Given the description of an element on the screen output the (x, y) to click on. 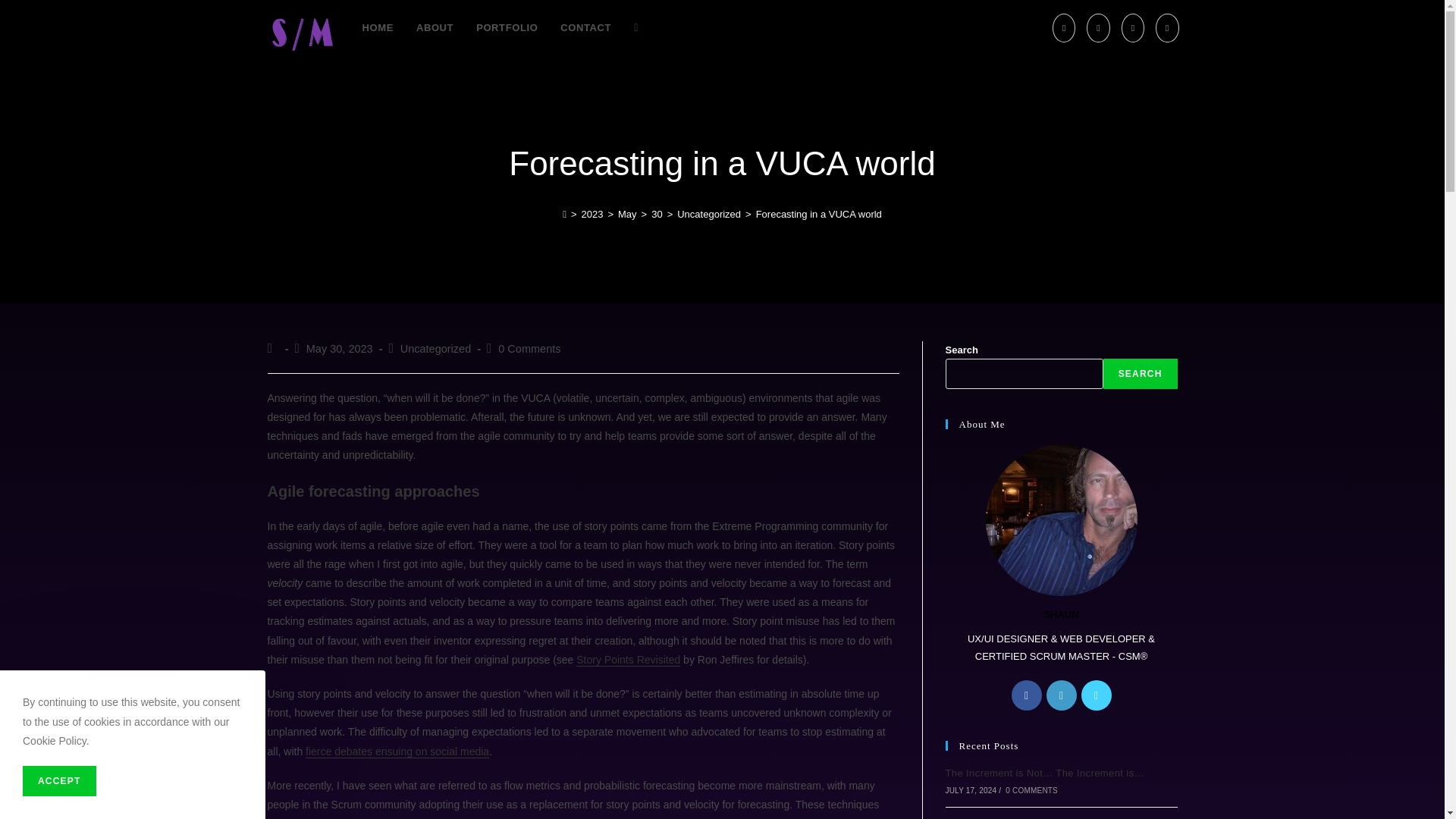
PORTFOLIO (506, 28)
ABOUT (434, 28)
Uncategorized (435, 348)
0 Comments (528, 348)
fierce debates ensuing on social media (397, 751)
Story Points Revisited (627, 659)
2023 (591, 214)
30 (656, 214)
No Estimates (397, 751)
May (627, 214)
Forecasting in a VUCA world (818, 214)
Story Points Revisited (627, 659)
CONTACT (585, 28)
Uncategorized (709, 214)
HOME (377, 28)
